Given the description of an element on the screen output the (x, y) to click on. 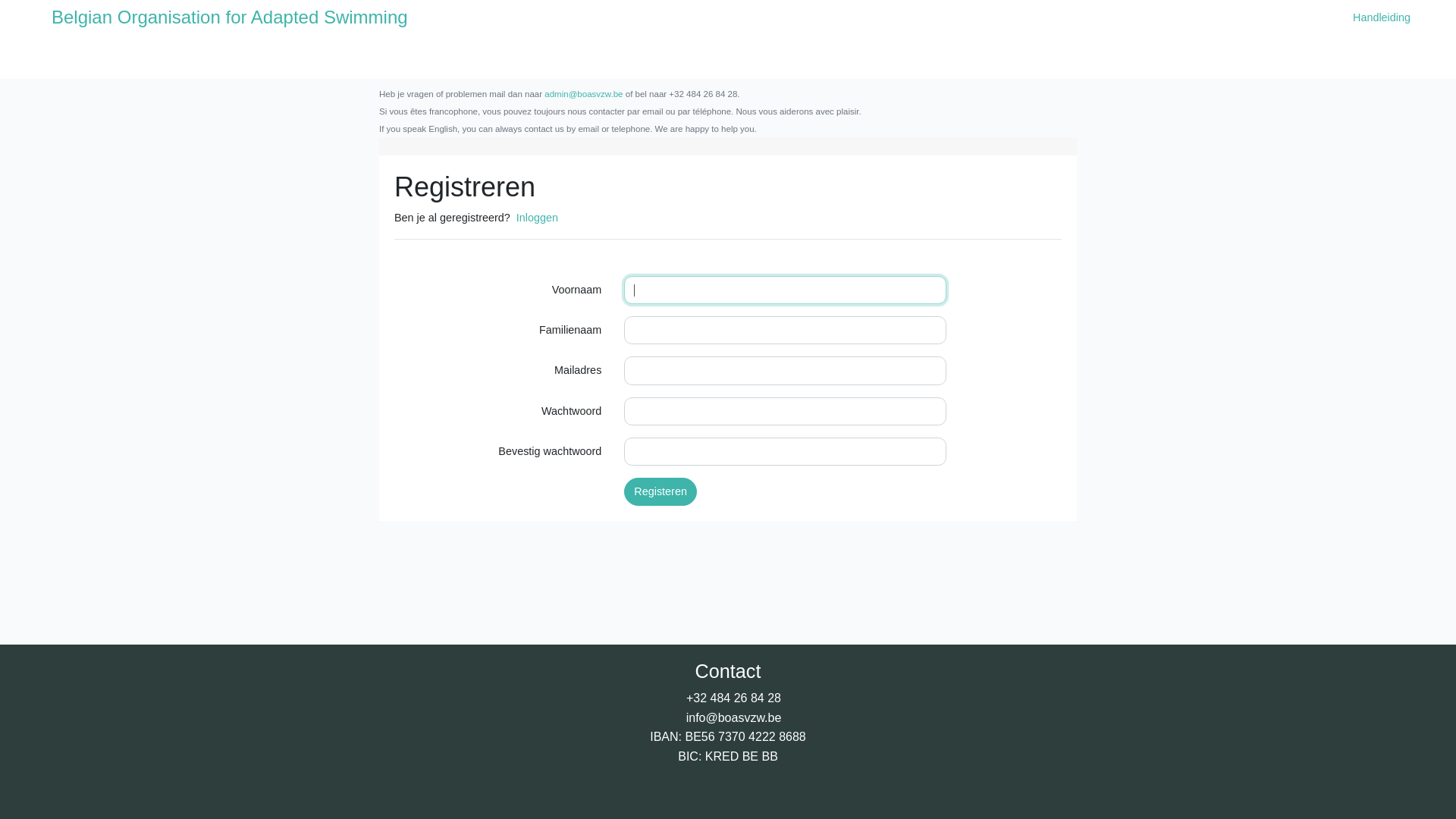
Registeren Element type: text (660, 491)
+32 484 26 84 28 Element type: text (733, 697)
admin@boasvzw.be Element type: text (583, 93)
Inloggen Element type: text (537, 217)
Handleiding Element type: text (1381, 17)
info@boasvzw.be Element type: text (733, 717)
